Given the description of an element on the screen output the (x, y) to click on. 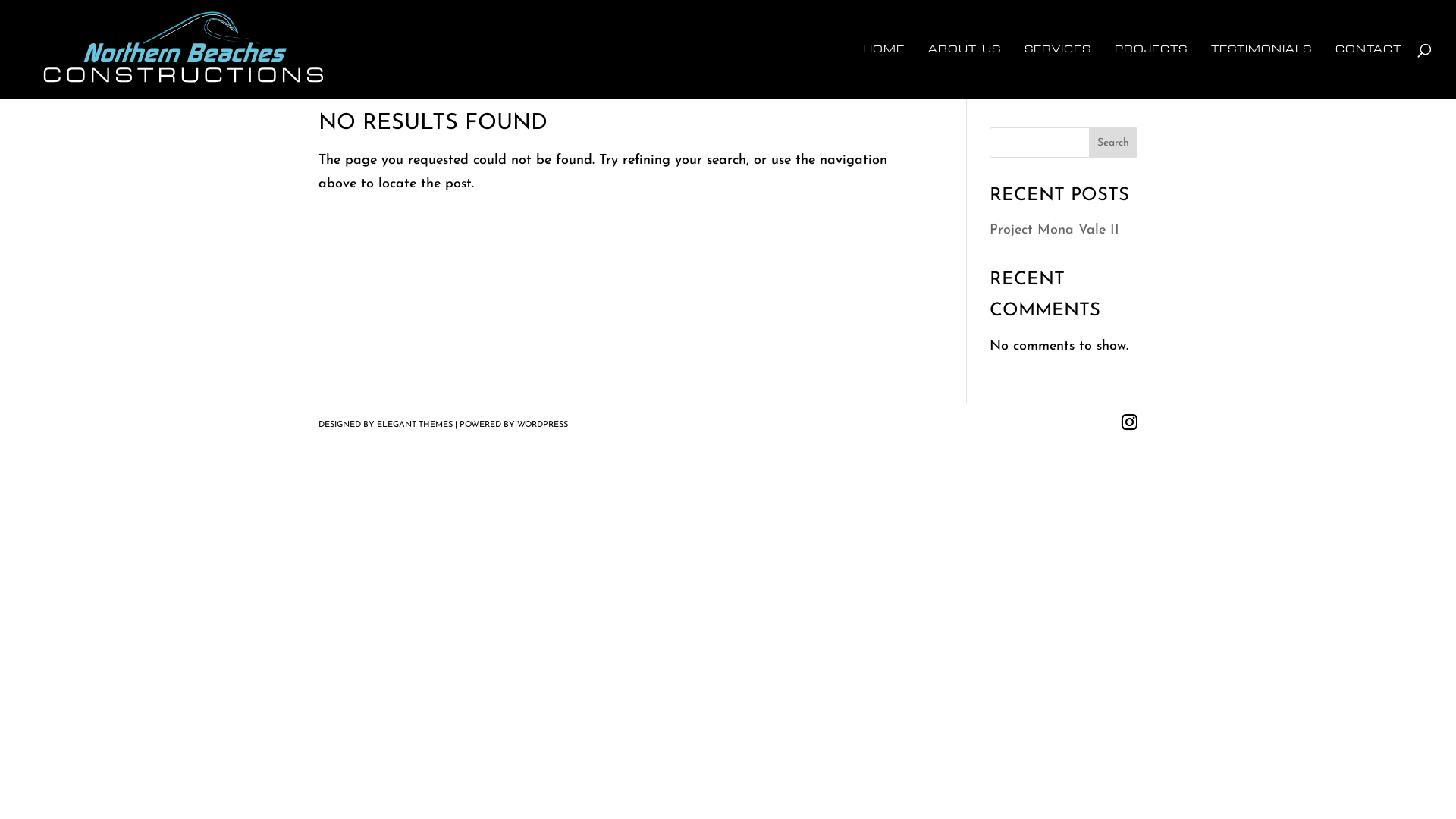
WORDPRESS Element type: text (542, 424)
PROJECTS Element type: text (1150, 70)
ELEGANT THEMES Element type: text (414, 424)
TESTIMONIALS Element type: text (1261, 70)
Project Mona Vale II Element type: text (1054, 229)
SERVICES Element type: text (1057, 70)
HOME Element type: text (883, 70)
CONTACT Element type: text (1368, 70)
Search Element type: text (1112, 142)
ABOUT US Element type: text (964, 70)
